Given the description of an element on the screen output the (x, y) to click on. 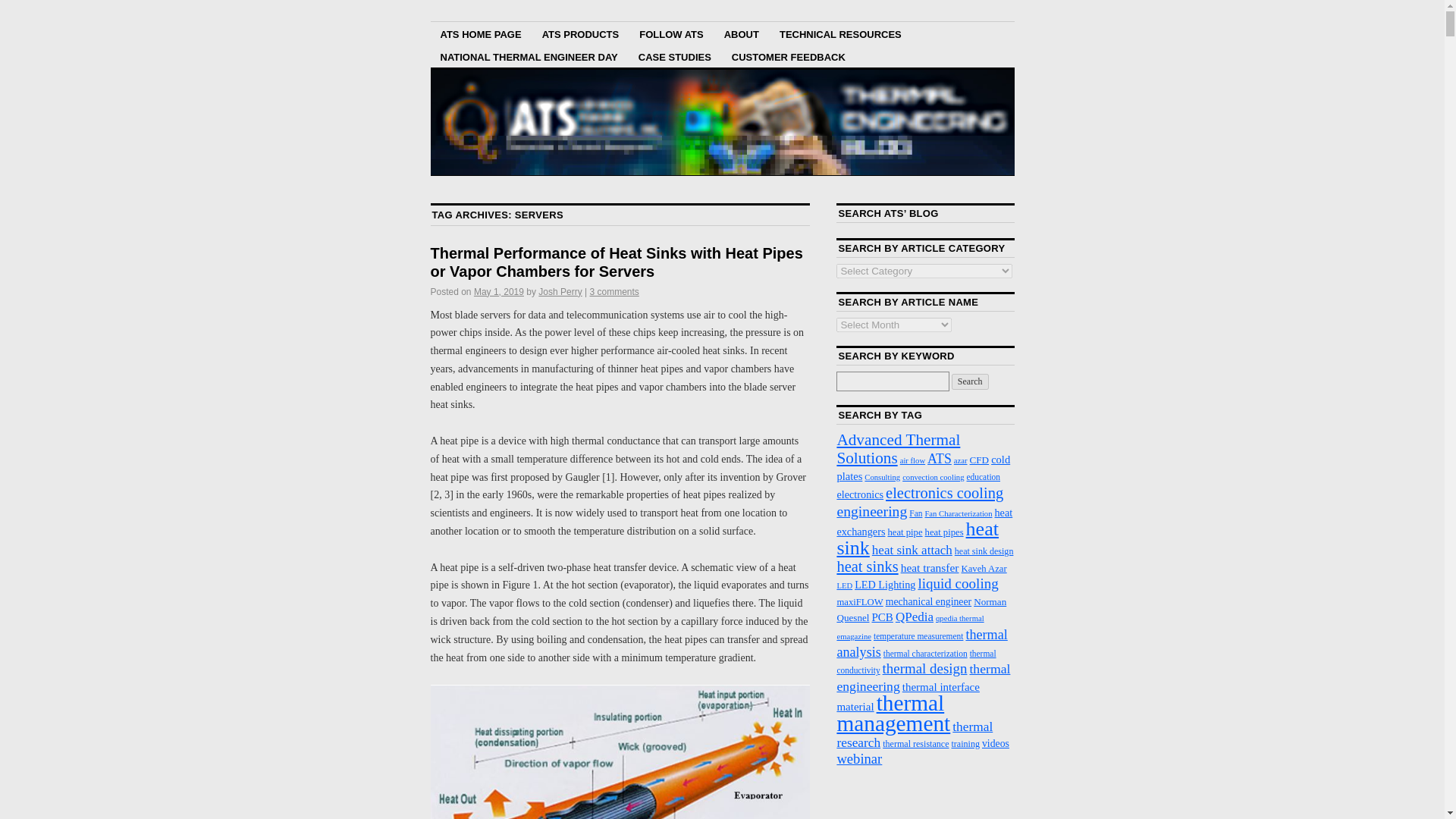
Search (970, 381)
ATS PRODUCTS (580, 33)
8:45 am (499, 291)
FOLLOW ATS (670, 33)
TECHNICAL RESOURCES (840, 33)
View all posts by Josh Perry (559, 291)
ATS HOME PAGE (480, 33)
ABOUT (741, 33)
